Given the description of an element on the screen output the (x, y) to click on. 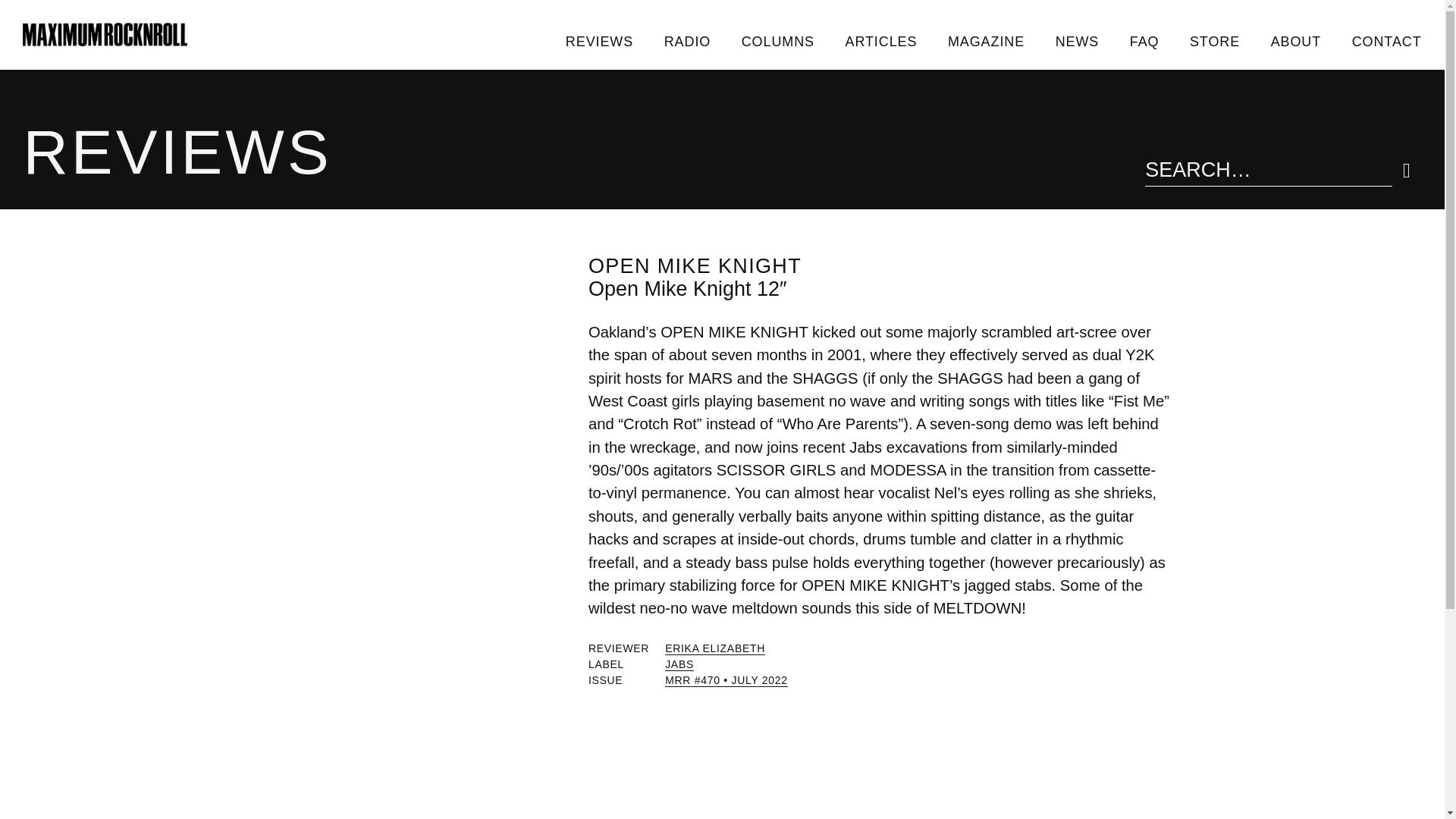
ERIKA ELIZABETH (715, 648)
FAQ (1143, 41)
ARTICLES (880, 41)
CONTACT (1385, 41)
ABOUT (1295, 41)
JABS (679, 664)
OPEN MIKE KNIGHT (695, 265)
MAGAZINE (987, 41)
RADIO (686, 41)
STORE (1214, 41)
